Given the description of an element on the screen output the (x, y) to click on. 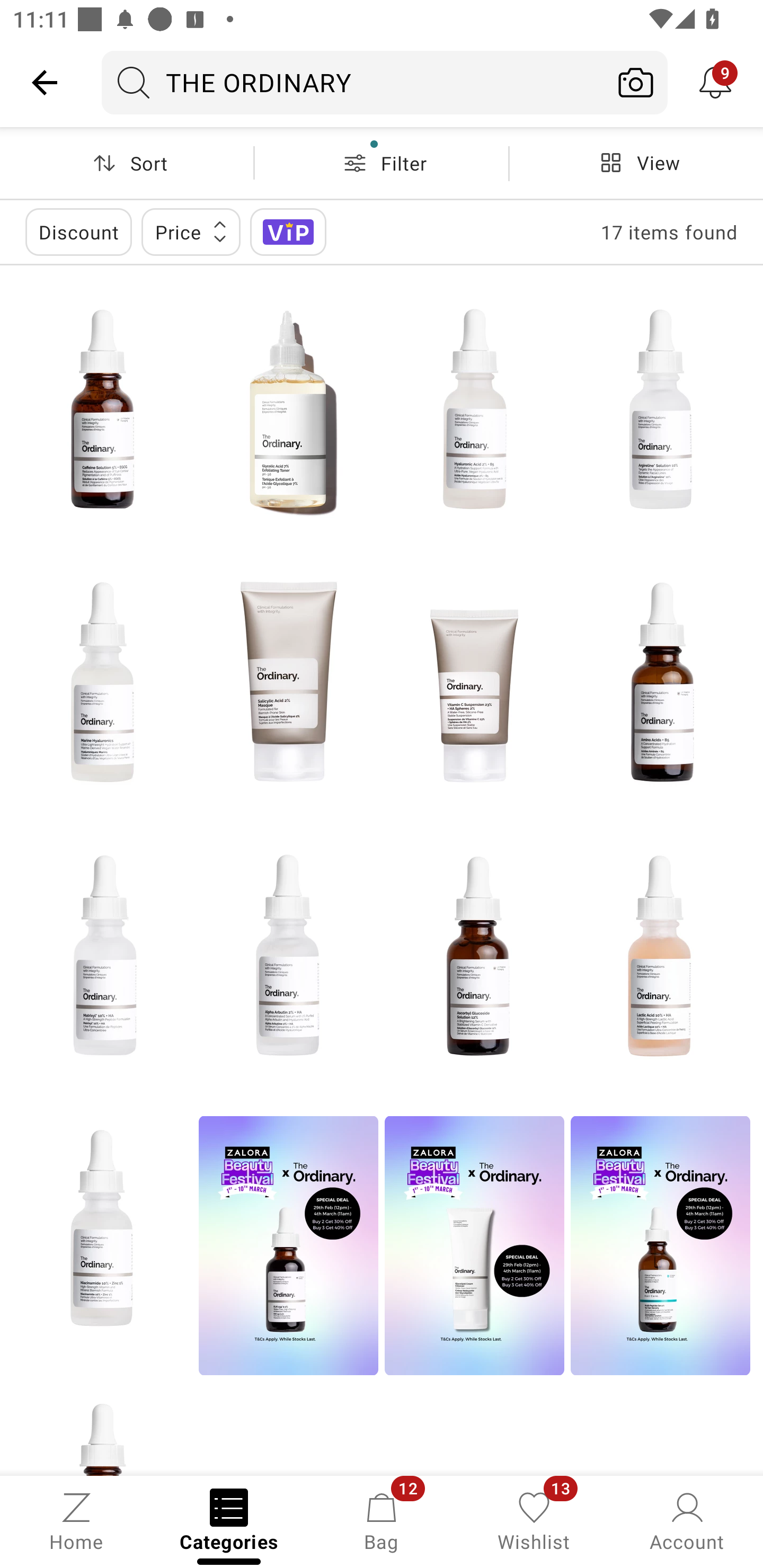
Navigate up (44, 82)
THE ORDINARY (352, 82)
Sort (126, 163)
Filter (381, 163)
View (636, 163)
Discount (78, 231)
Price (190, 231)
Home (76, 1519)
Bag, 12 new notifications Bag (381, 1519)
Wishlist, 13 new notifications Wishlist (533, 1519)
Account (686, 1519)
